Given the description of an element on the screen output the (x, y) to click on. 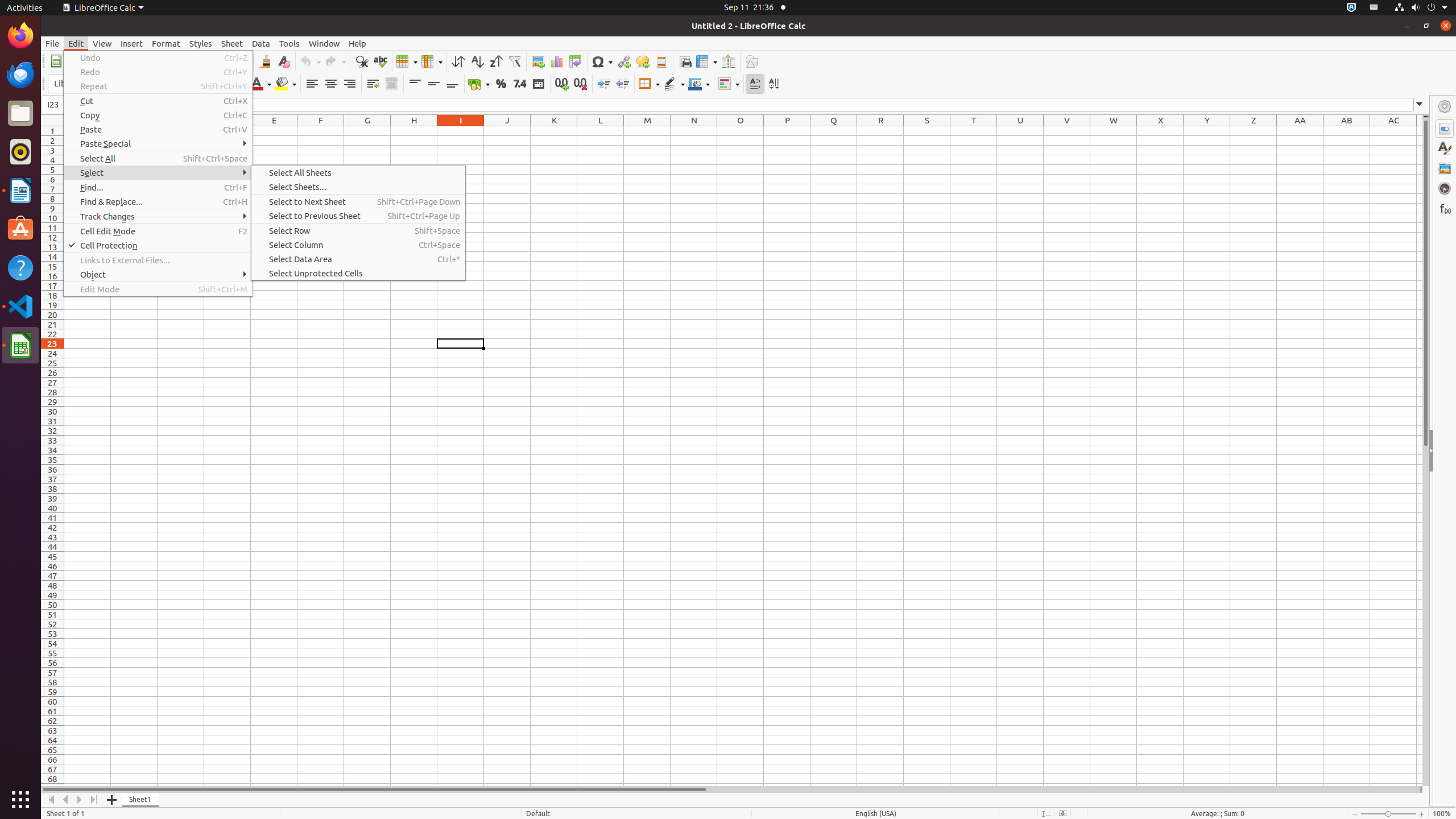
Properties Element type: panel (1444, 450)
Decrease Element type: push-button (622, 83)
Move Left Element type: push-button (65, 799)
File Element type: menu (51, 43)
Select Element type: menu (157, 172)
